Given the description of an element on the screen output the (x, y) to click on. 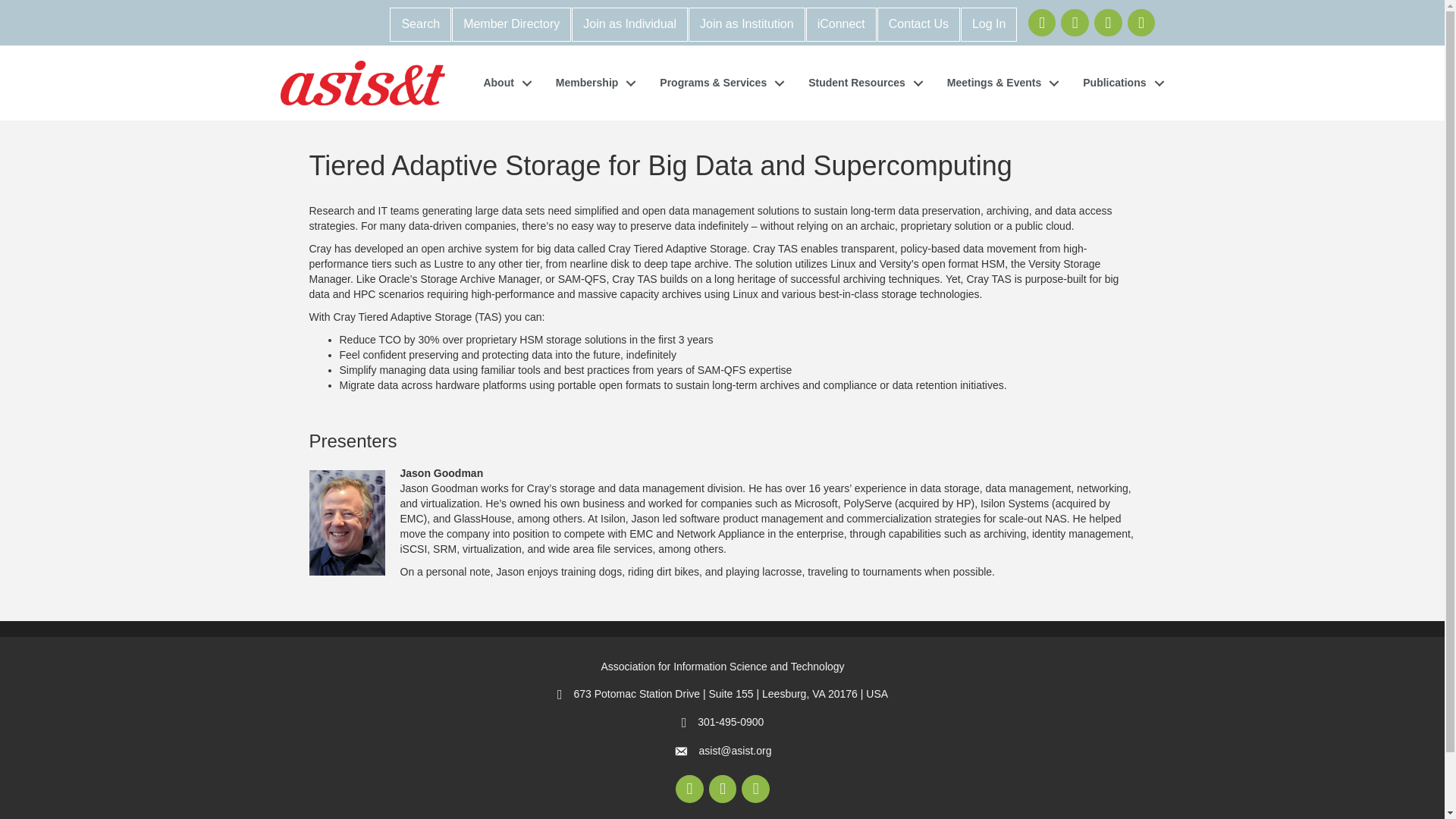
Join as Individual (629, 24)
Join as Institution (746, 24)
About (502, 82)
Search (420, 24)
Member Directory (510, 24)
Log In (988, 24)
Contact Us (918, 24)
iConnect (841, 24)
